Given the description of an element on the screen output the (x, y) to click on. 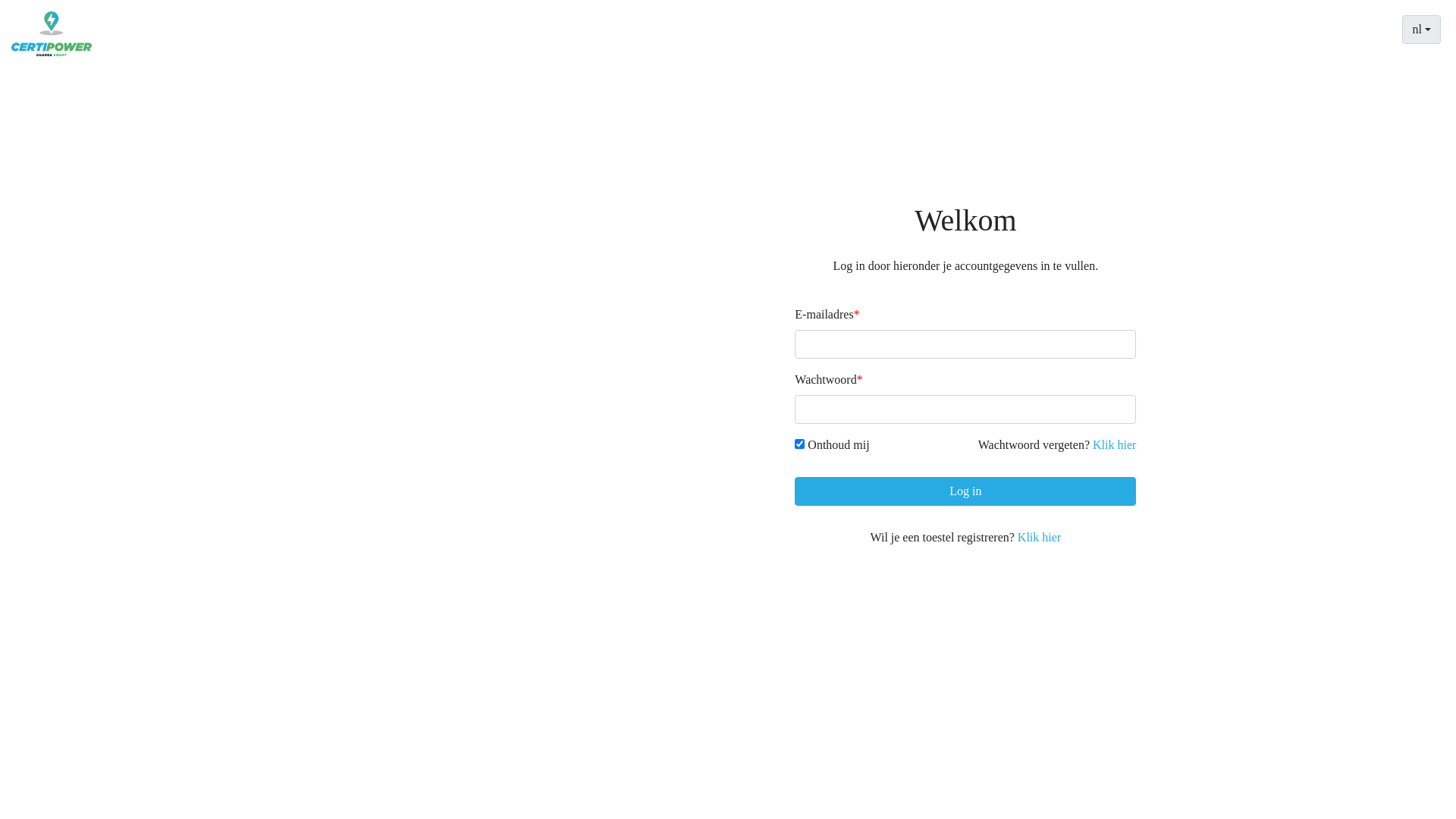
Log in Element type: text (964, 490)
Klik hier Element type: text (1113, 444)
nl Element type: text (1421, 29)
Klik hier Element type: text (1038, 536)
